Given the description of an element on the screen output the (x, y) to click on. 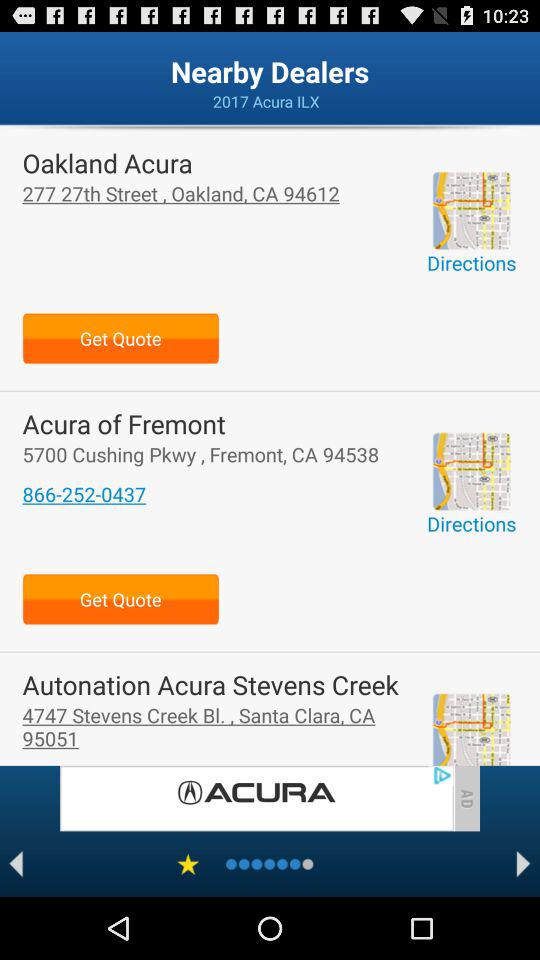
go to back (16, 864)
